Given the description of an element on the screen output the (x, y) to click on. 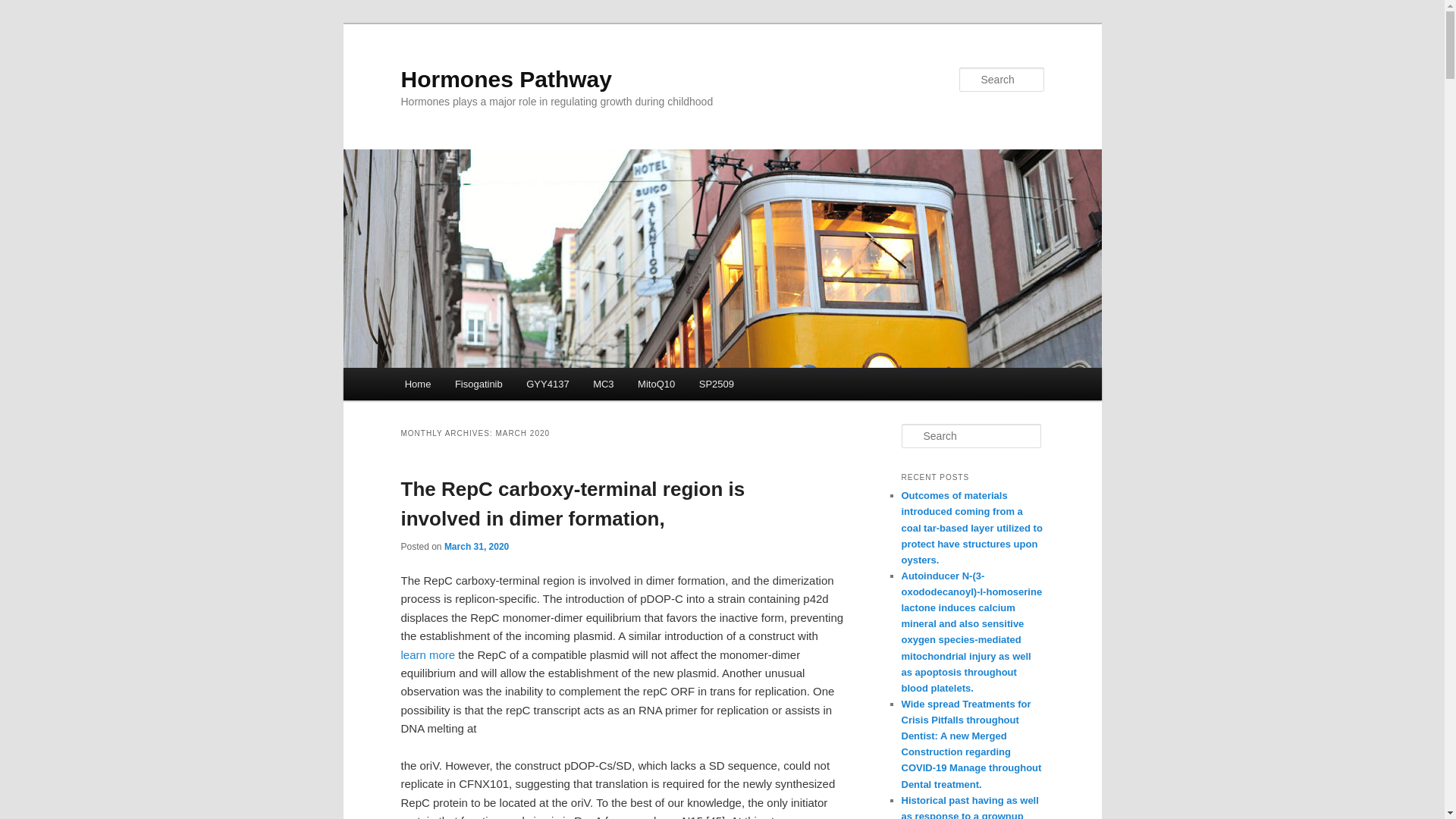
Skip to secondary content (479, 386)
MC3 (603, 383)
GYY4137 (546, 383)
Skip to secondary content (479, 386)
Hormones Pathway (505, 78)
Search (24, 8)
Home (417, 383)
10:21 am (476, 546)
Home (417, 383)
Hormones Pathway (505, 78)
MitoQ10 (656, 383)
Fisogatinib (477, 383)
SP2509 (716, 383)
